Given the description of an element on the screen output the (x, y) to click on. 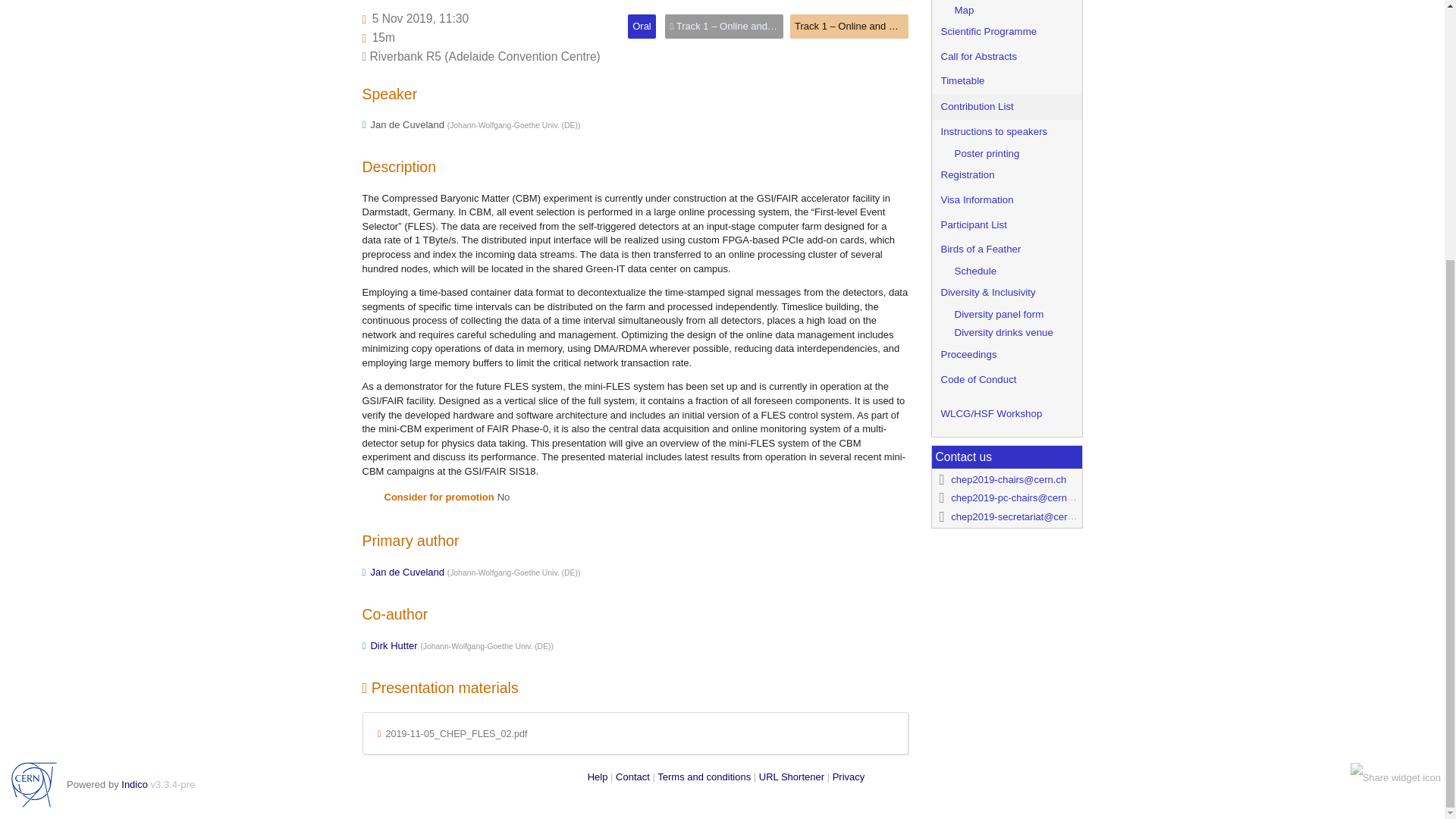
Map (1006, 9)
Duration (383, 37)
